Given the description of an element on the screen output the (x, y) to click on. 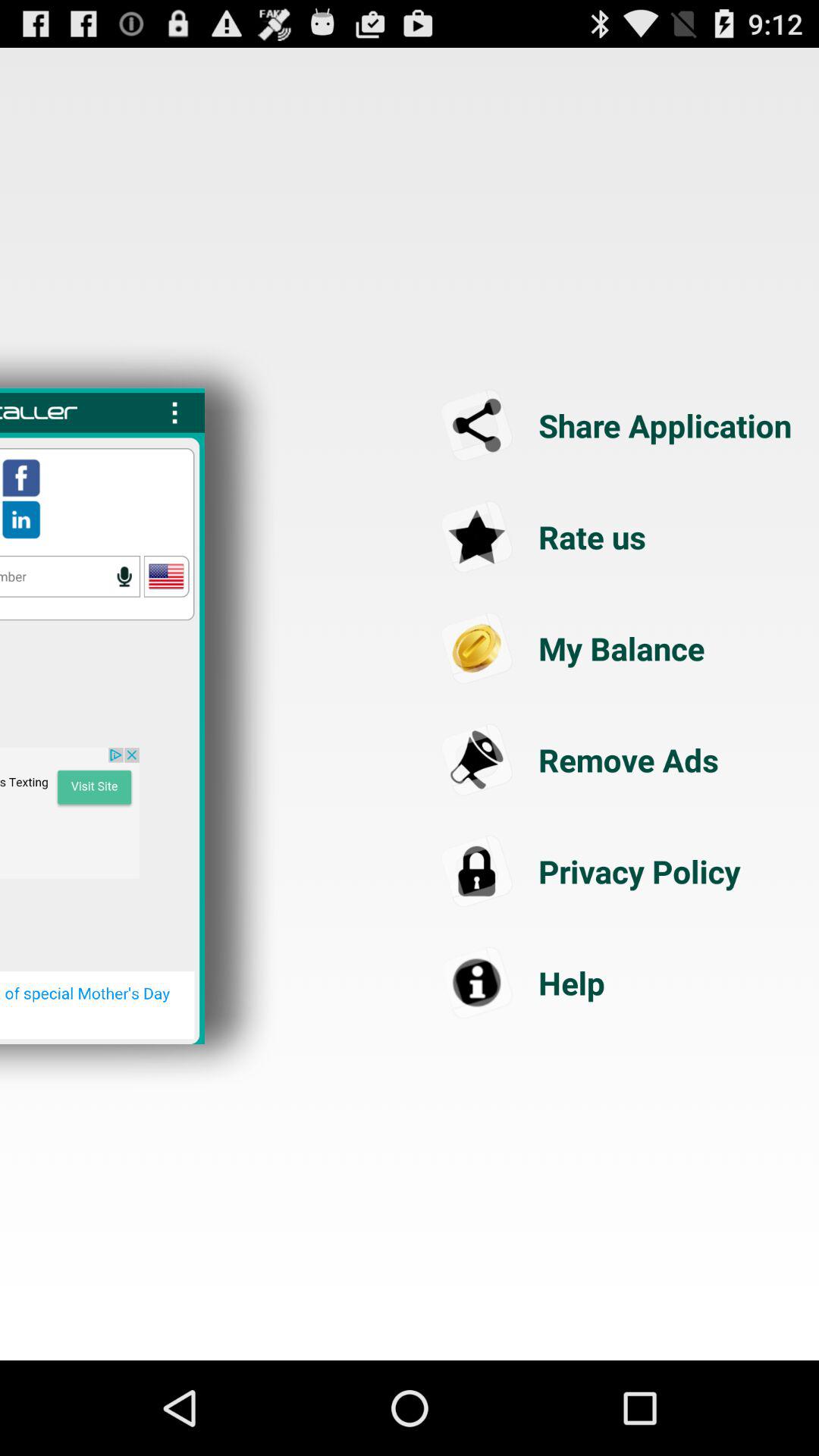
use voice search (70, 576)
